Given the description of an element on the screen output the (x, y) to click on. 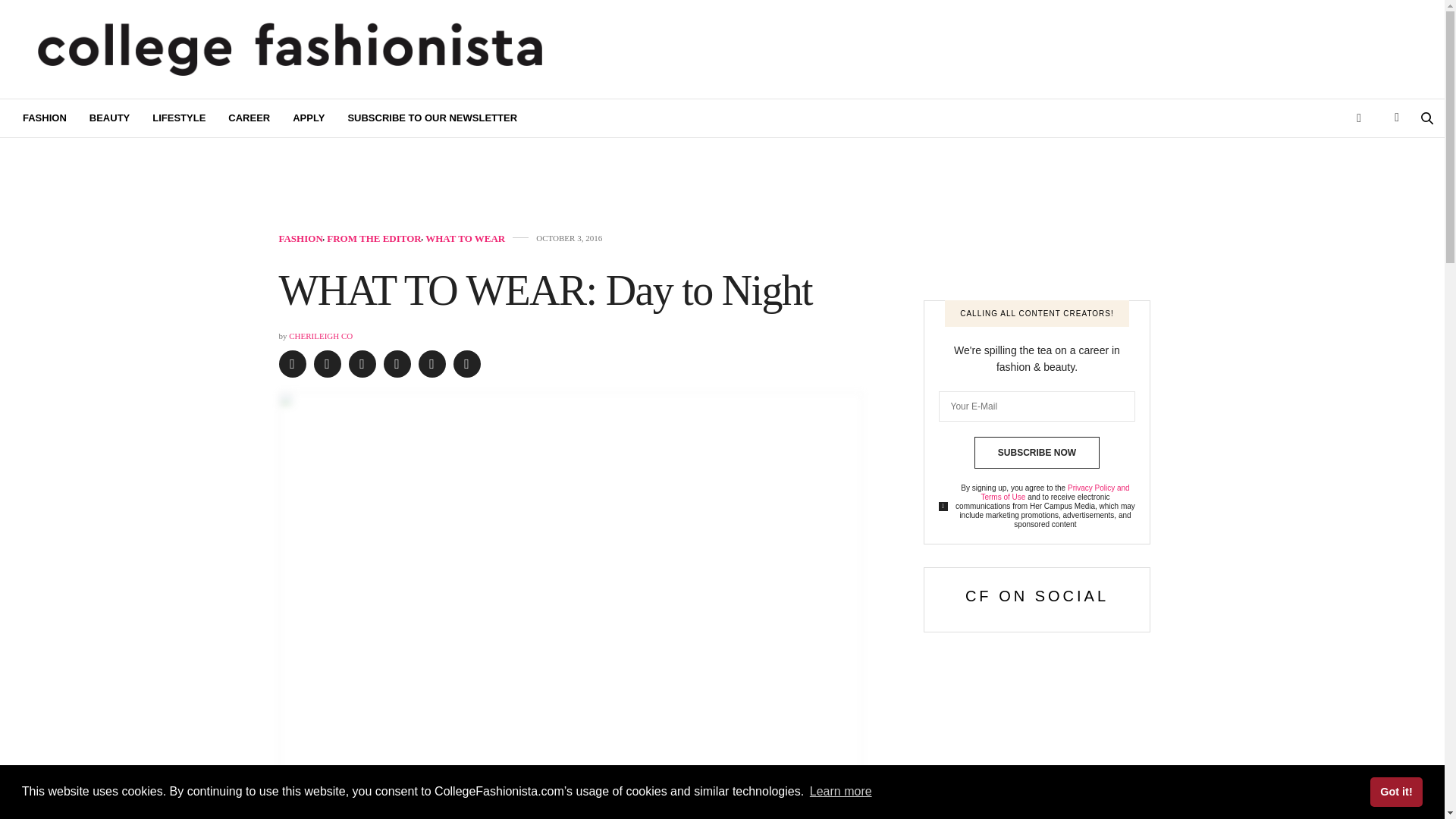
CHERILEIGH CO (320, 335)
FASHION (301, 238)
APPLY (308, 118)
FROM THE EDITOR (373, 238)
Posts by Cherileigh Co (320, 335)
WHAT TO WEAR (465, 238)
BEAUTY (108, 118)
CollegeFashionista.com (289, 49)
FASHION (44, 118)
LIFESTYLE (178, 118)
CAREER (248, 118)
SUBSCRIBE TO OUR NEWSLETTER (431, 118)
